Given the description of an element on the screen output the (x, y) to click on. 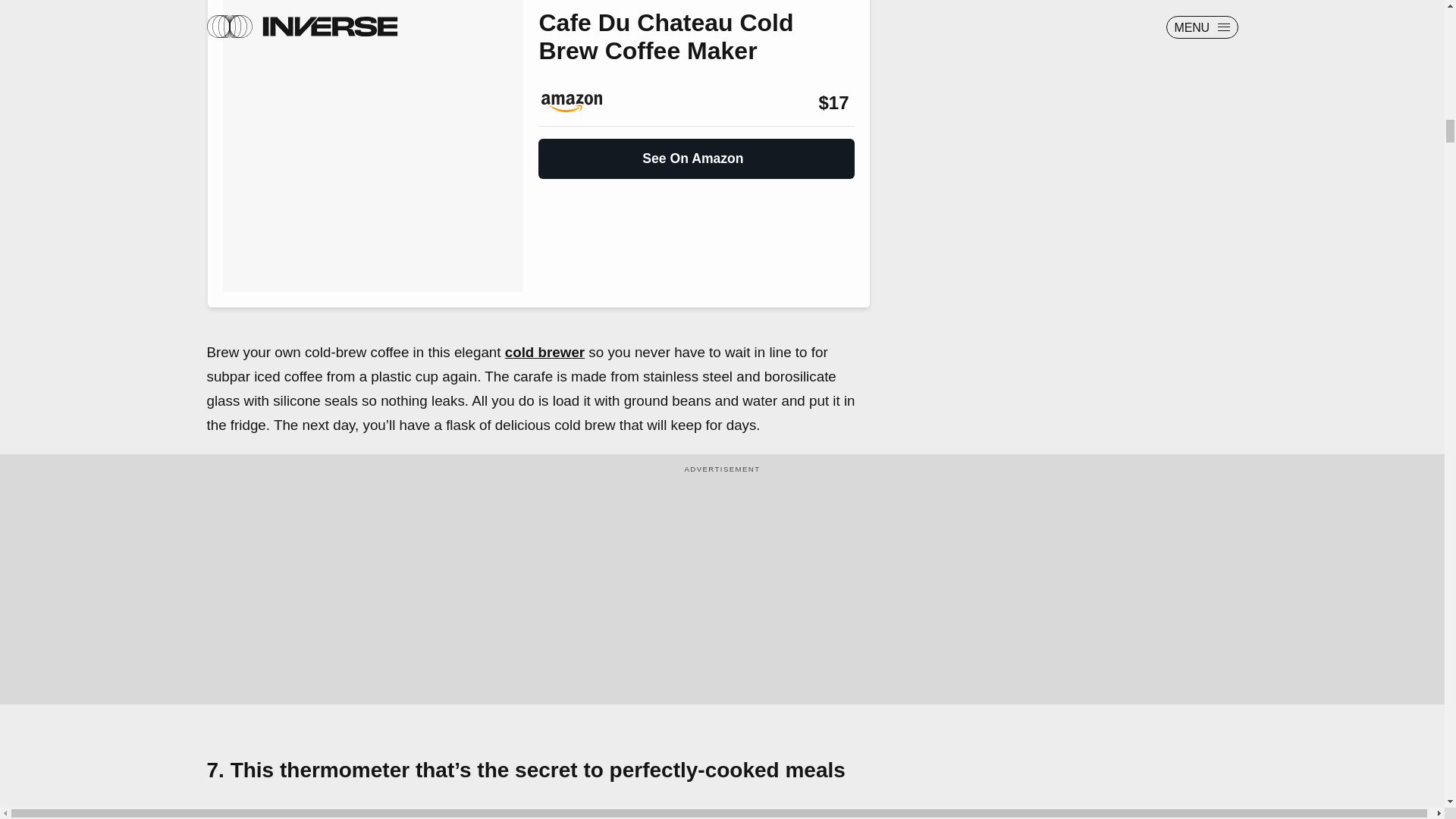
Amazon (579, 103)
cold brewer (545, 351)
See On Amazon (696, 152)
